Given the description of an element on the screen output the (x, y) to click on. 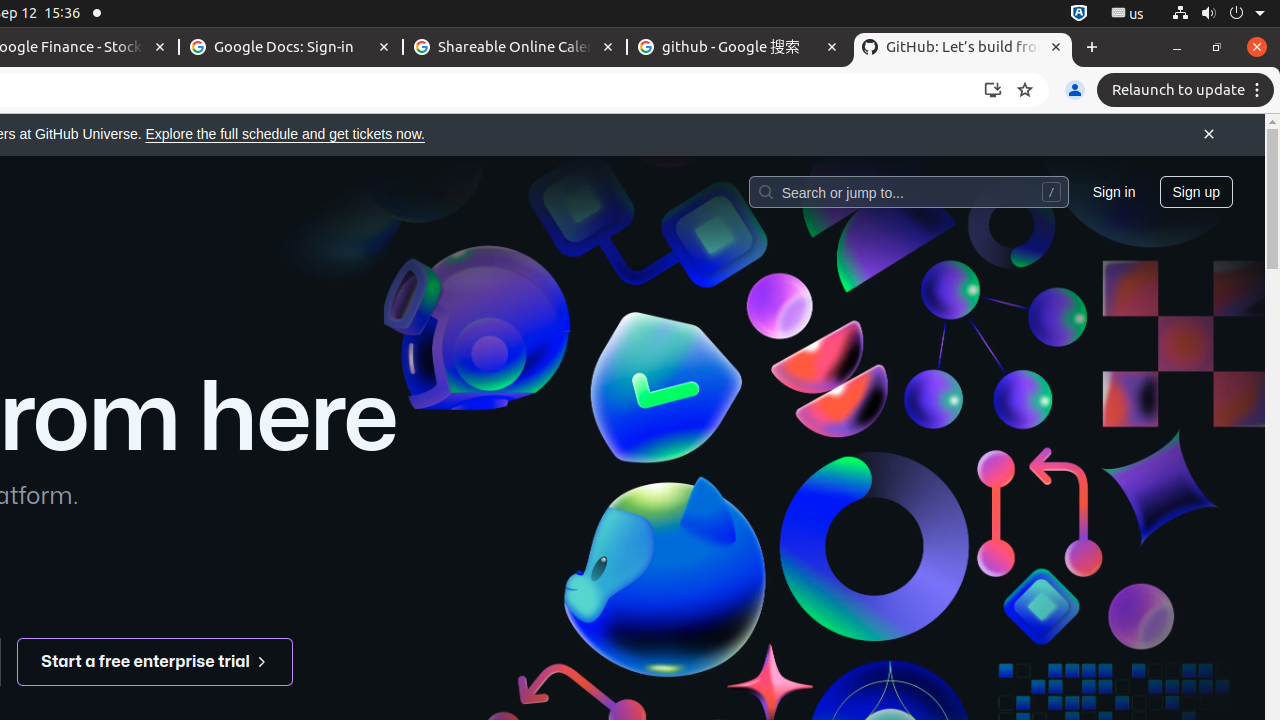
System Element type: menu (1218, 13)
